Given the description of an element on the screen output the (x, y) to click on. 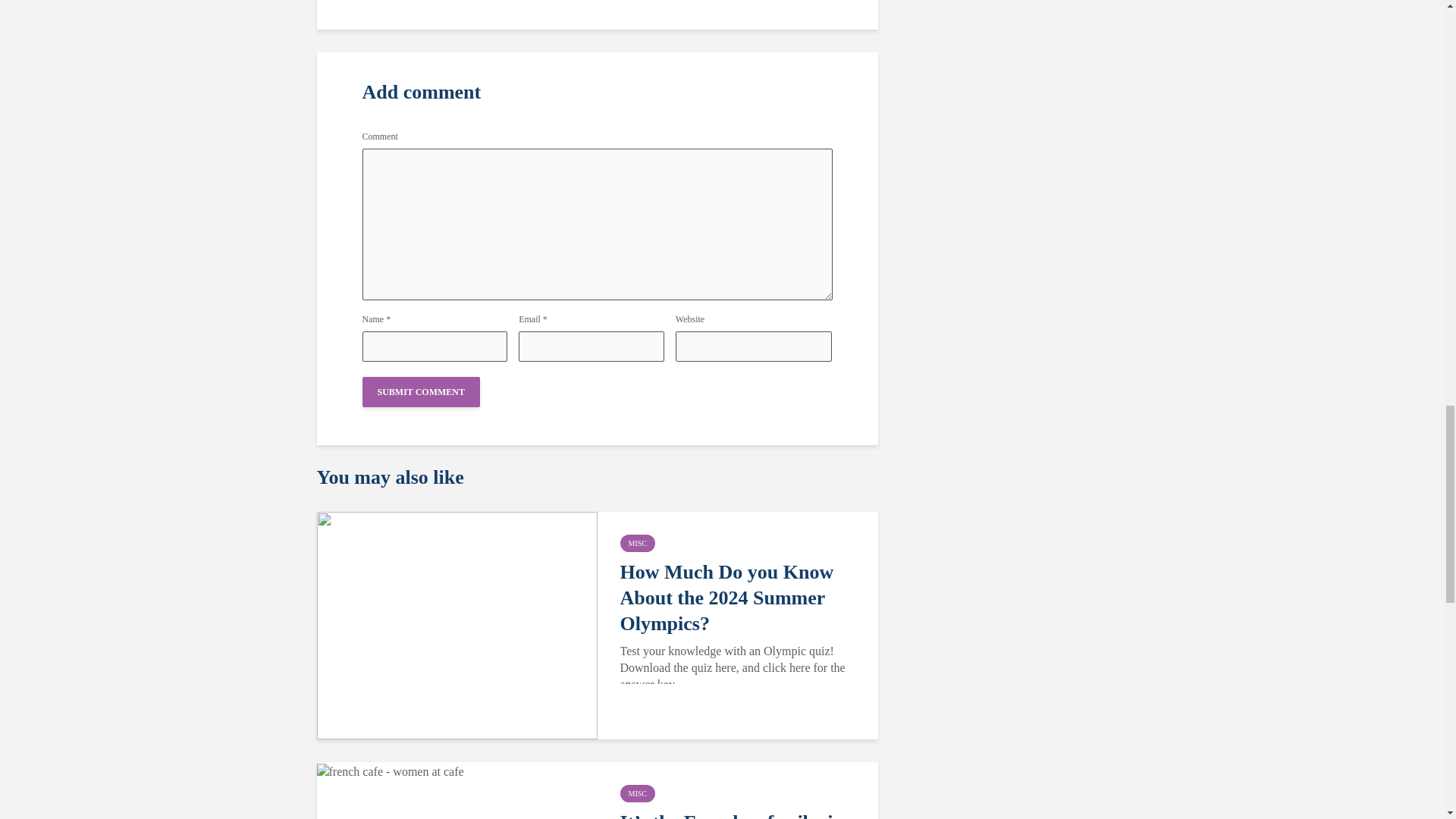
MISC (637, 543)
MISC (637, 793)
Submit Comment (421, 391)
Submit Comment (421, 391)
How Much Do you Know About the 2024 Summer Olympics? (740, 598)
How Much Do you Know About the 2024 Summer Olympics? (456, 624)
